Given the description of an element on the screen output the (x, y) to click on. 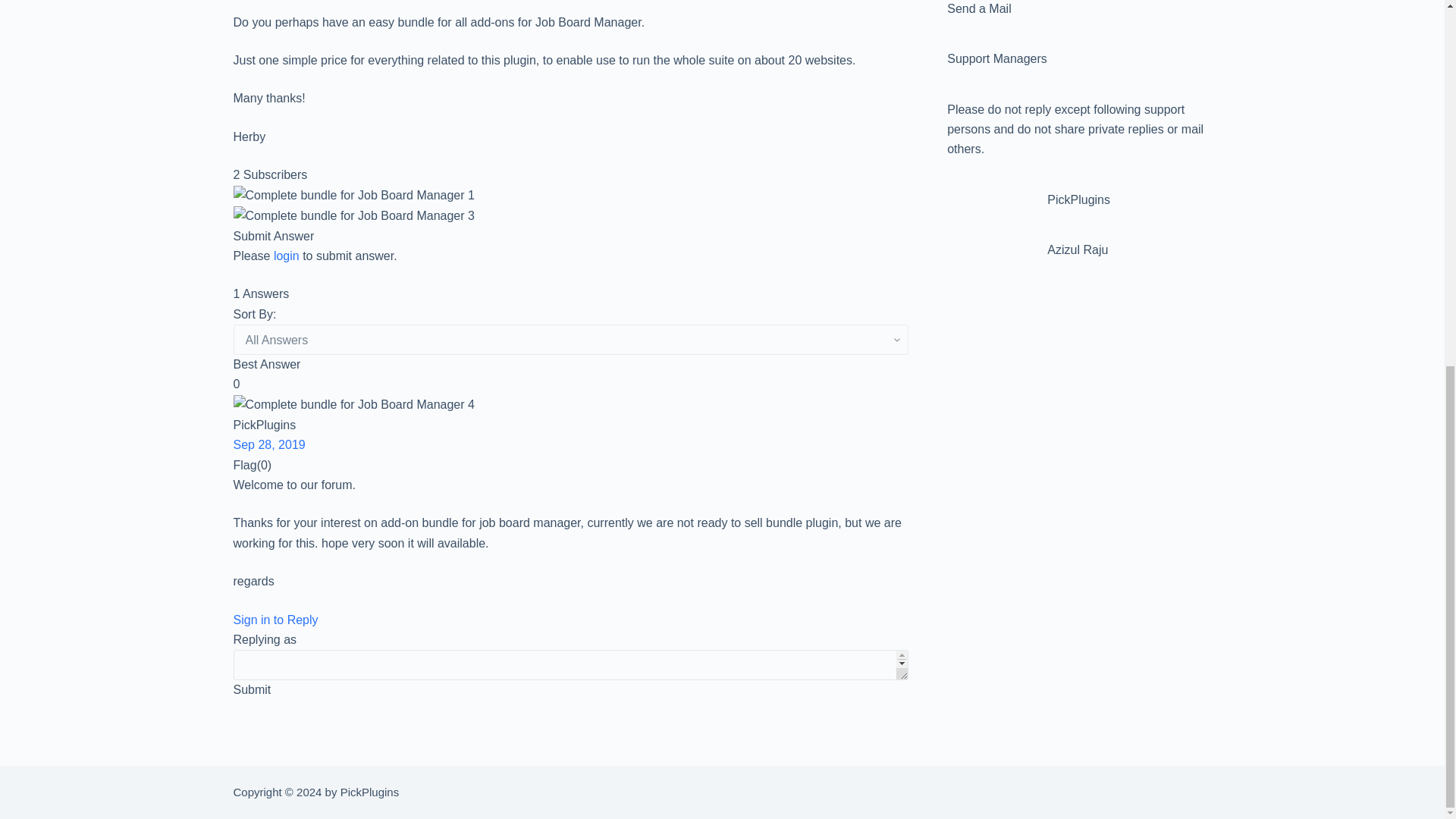
Complete bundle for Job Board Manager 3 (353, 216)
Complete bundle for Job Board Manager 4 (353, 404)
Sep 28, 2019 11:06 PM (268, 444)
Complete bundle for Job Board Manager 1 (353, 195)
PickPlugins (570, 216)
Herby Olschewski (570, 195)
